Given the description of an element on the screen output the (x, y) to click on. 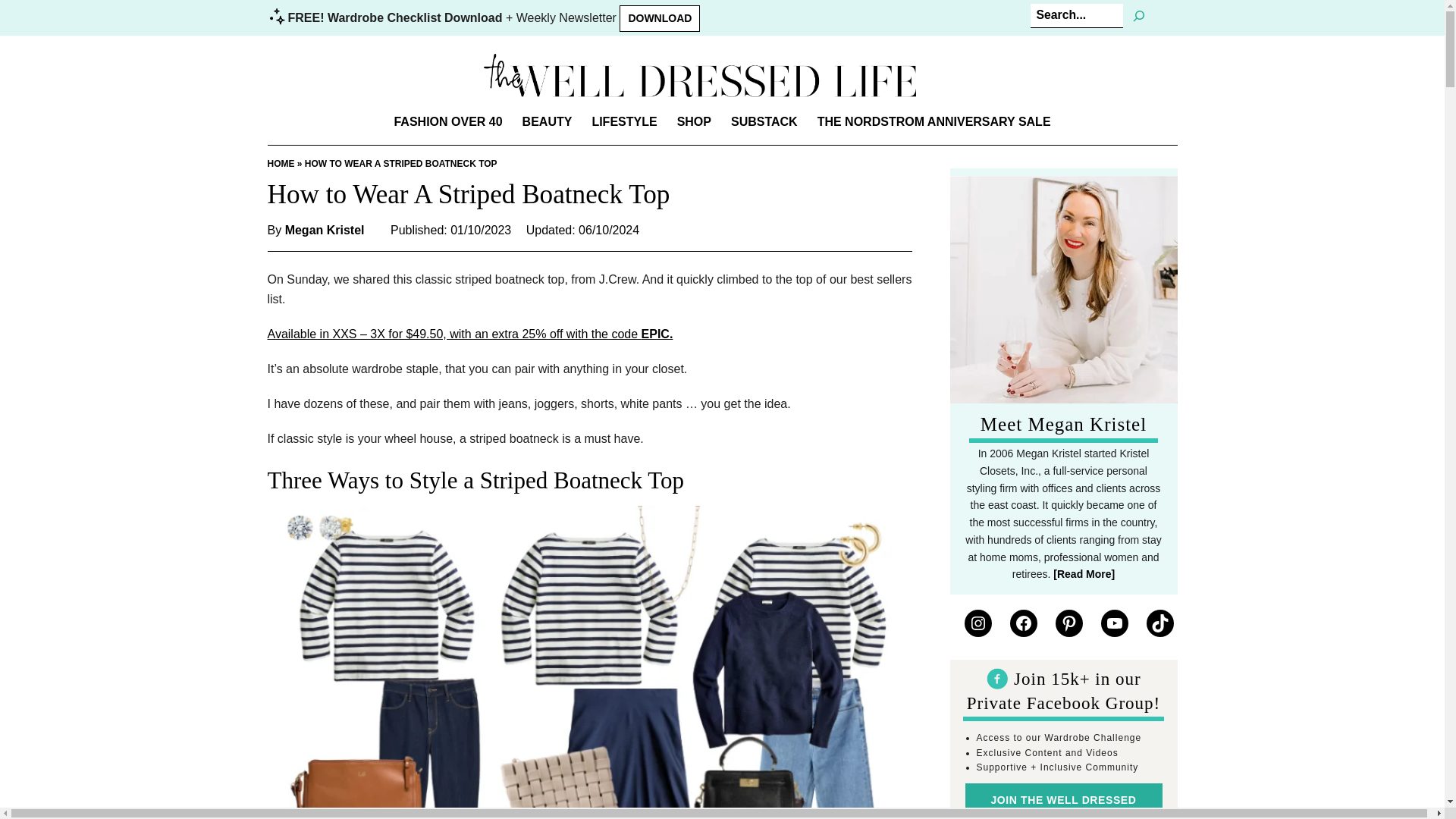
BEAUTY (547, 121)
FASHION OVER 40 (448, 121)
The Well Dressed Life (699, 75)
THE NORDSTROM ANNIVERSARY SALE (934, 121)
HOME (280, 163)
LIFESTYLE (623, 121)
Megan Kristel (325, 230)
DOWNLOAD (660, 17)
SUBSTACK (764, 121)
SHOP (693, 121)
